Given the description of an element on the screen output the (x, y) to click on. 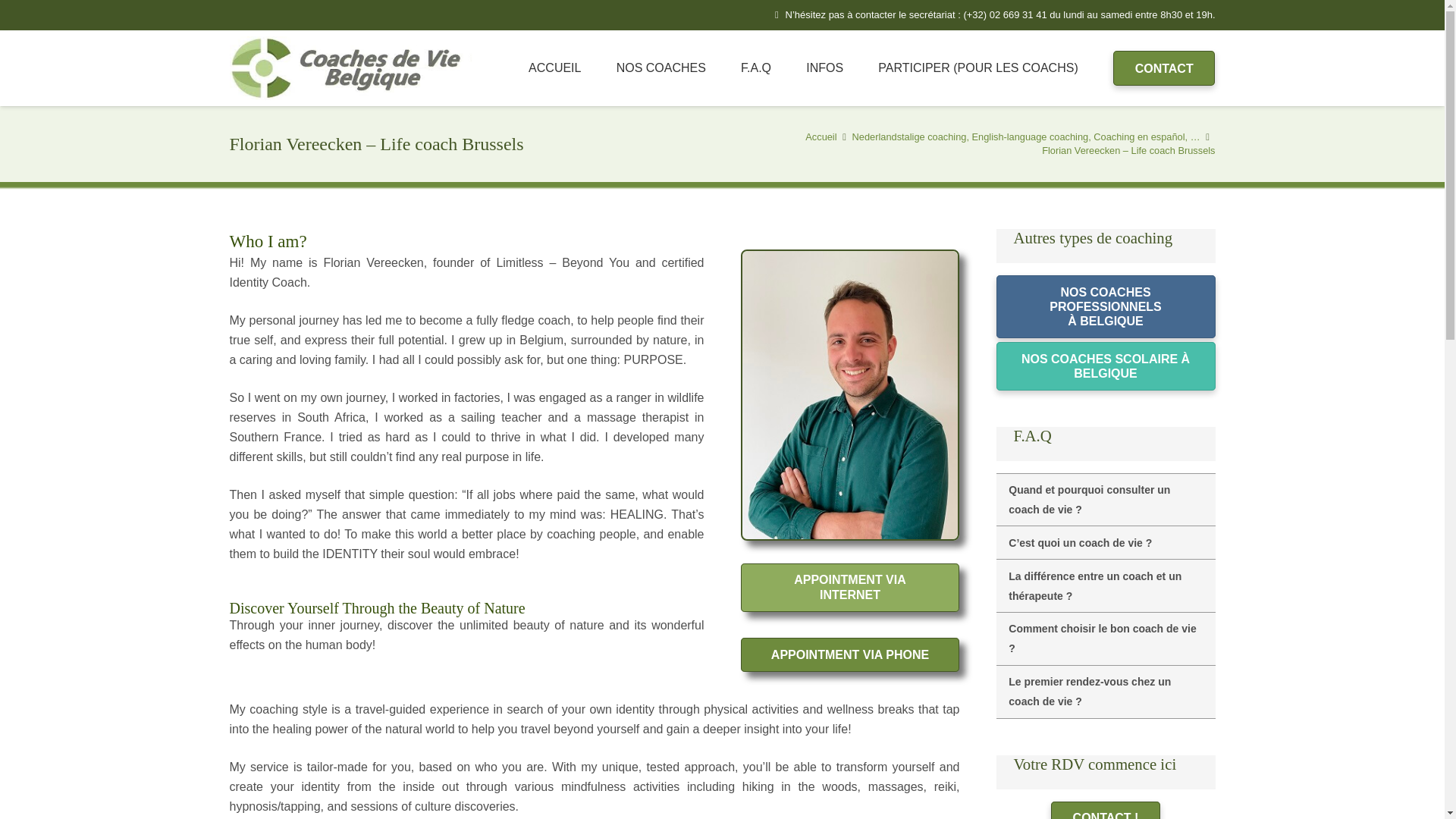
Vous trouverez ici nos coaches de vie Belgique (660, 68)
INFOS (824, 68)
ACCUEIL (554, 68)
Accueil (820, 136)
APPOINTMENT VIA PHONE (849, 654)
CONTACT (1164, 67)
APPOINTMENT VIA INTERNET (849, 587)
NOS COACHES (660, 68)
